Given the description of an element on the screen output the (x, y) to click on. 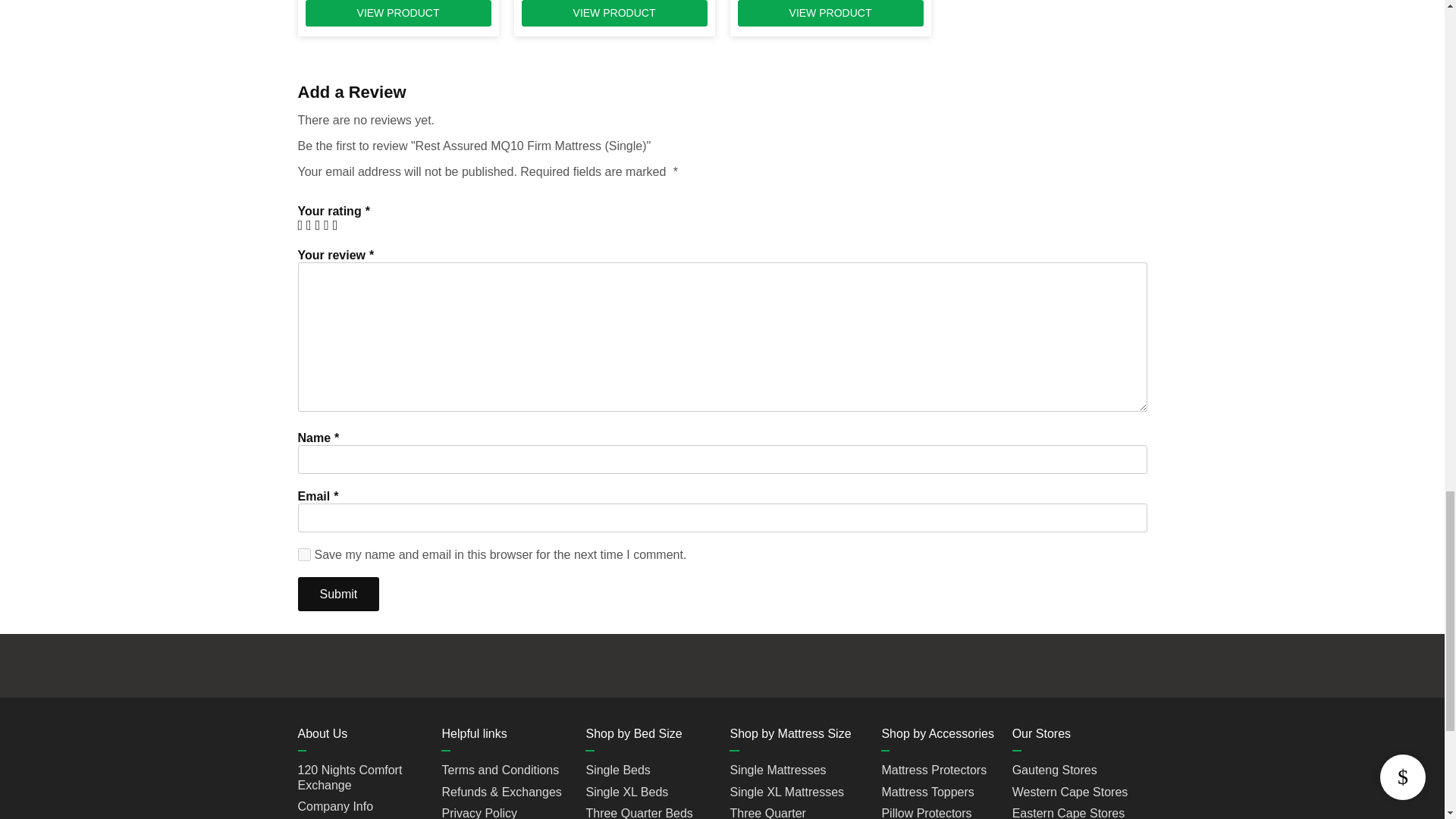
on (303, 554)
